Given the description of an element on the screen output the (x, y) to click on. 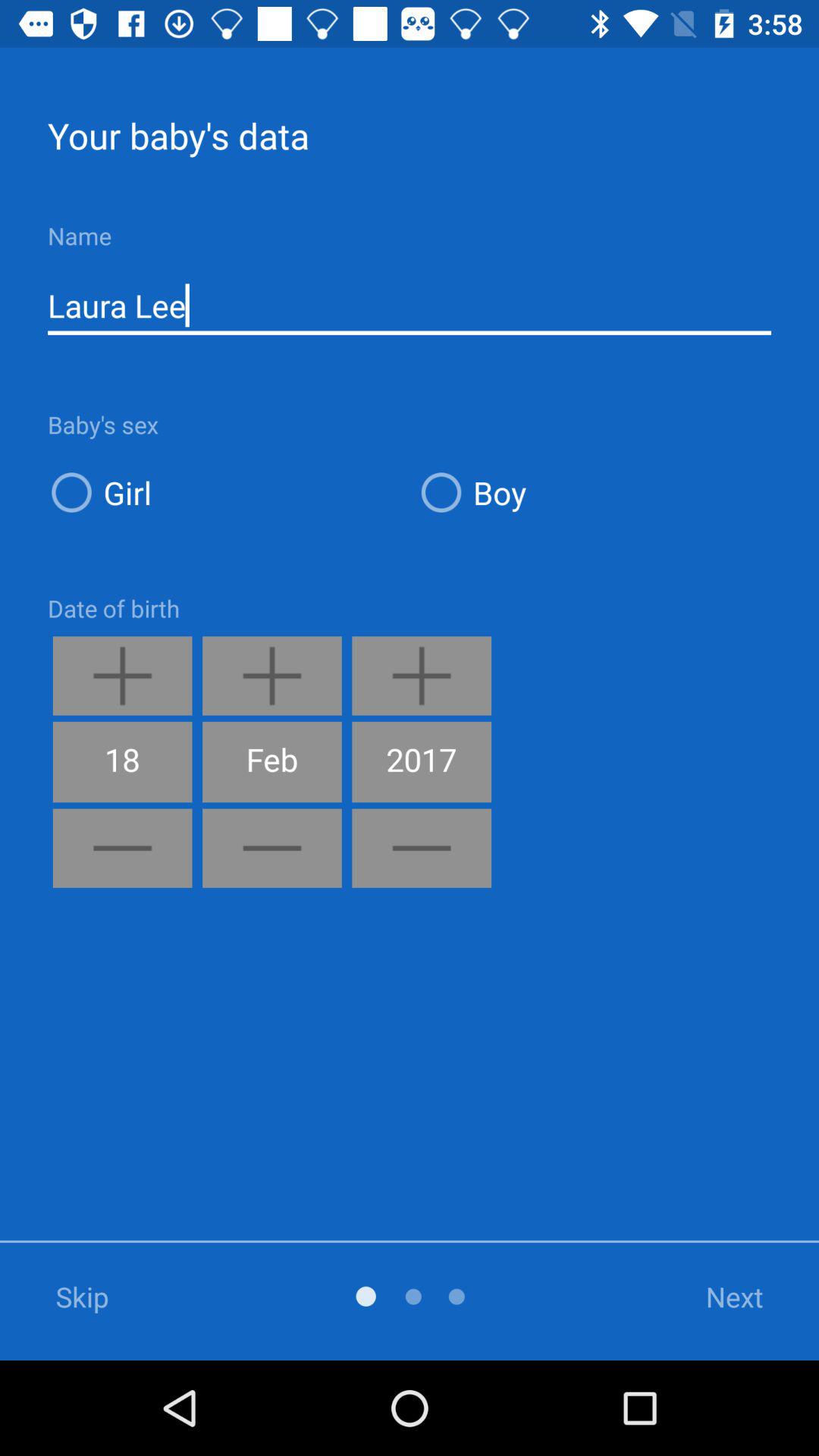
jump until the laura lee (409, 305)
